Given the description of an element on the screen output the (x, y) to click on. 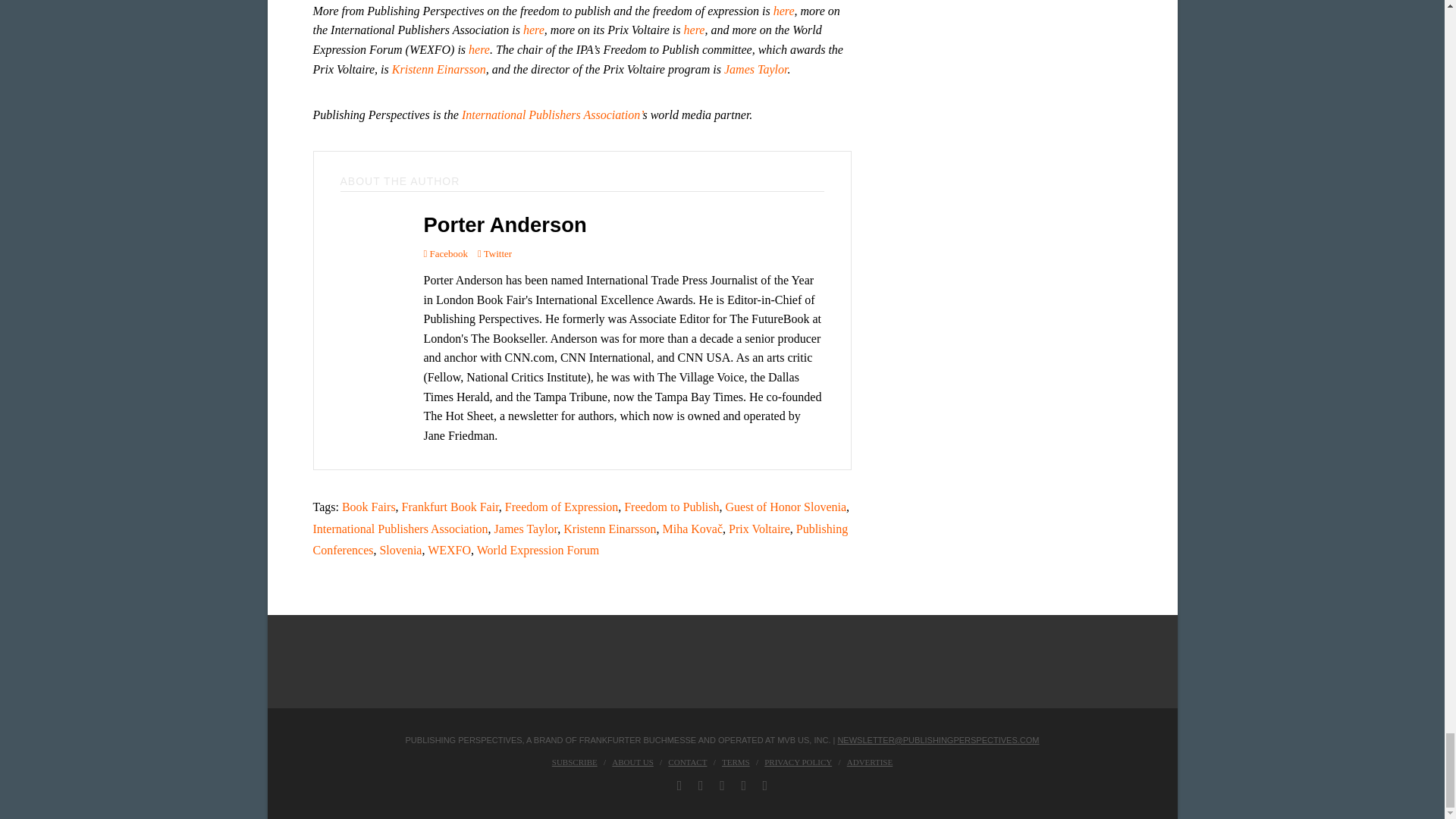
Visit the Twitter Profile for Porter Anderson (494, 253)
Terms and Conditions (735, 761)
Subscribe to Publishing Perspectives (573, 761)
Visit the Facebook Profile for Porter Anderson (445, 253)
